Given the description of an element on the screen output the (x, y) to click on. 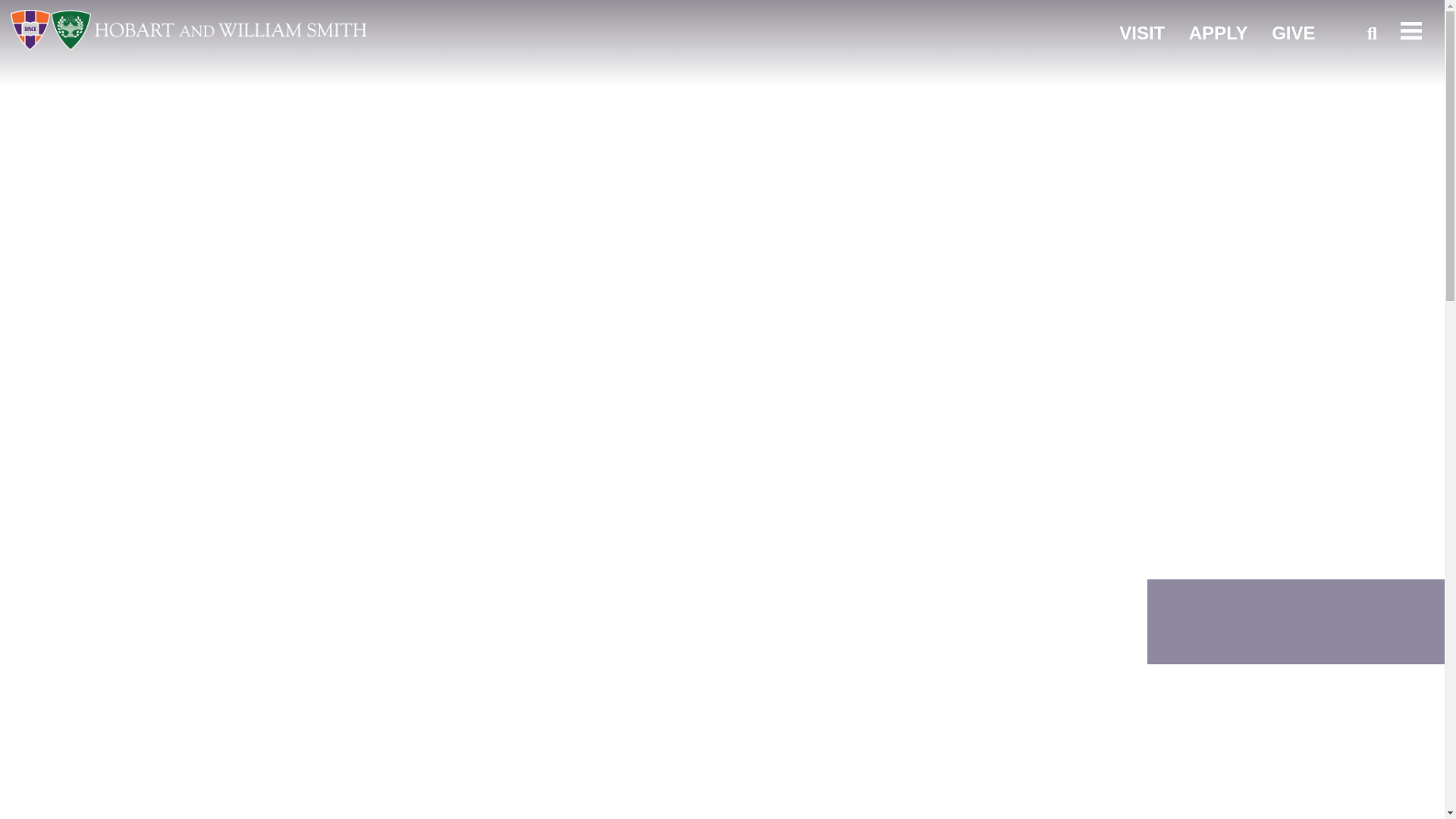
Submit (1364, 82)
GIVE (1292, 33)
APPLY (1218, 33)
VISIT (1141, 33)
